Given the description of an element on the screen output the (x, y) to click on. 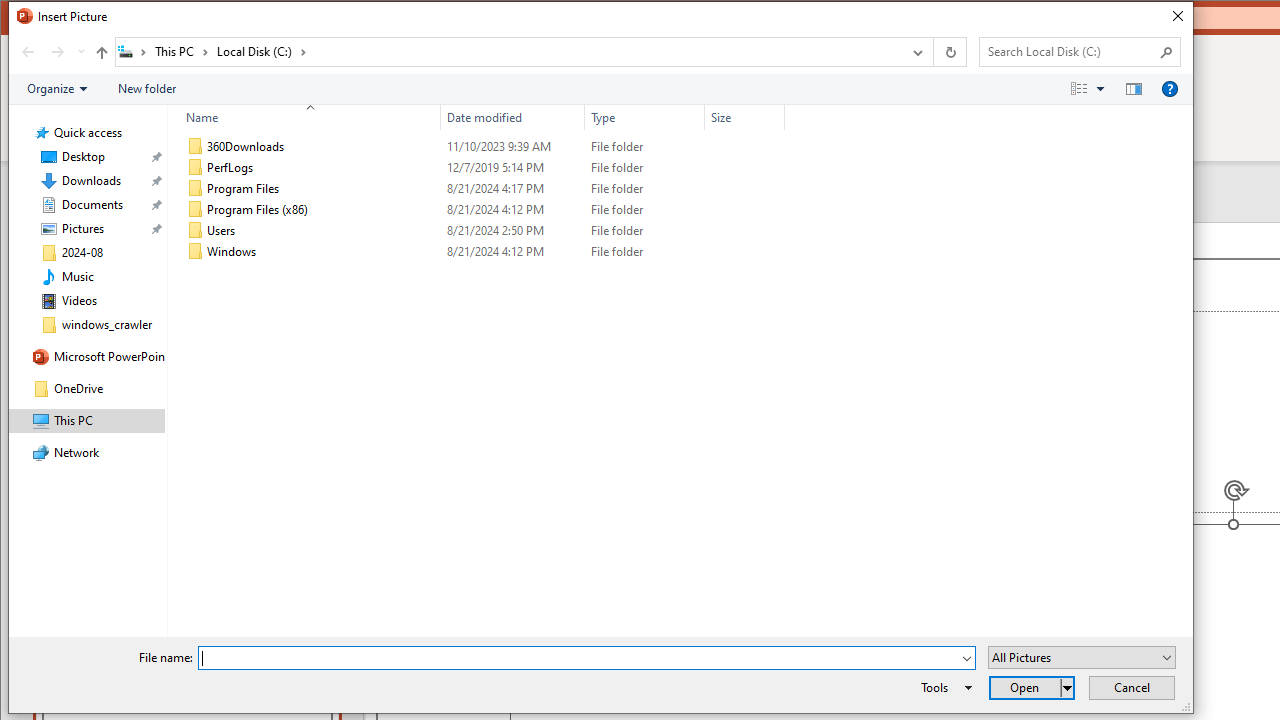
Name (322, 251)
New folder (146, 89)
View Slider (1100, 89)
Date modified (512, 251)
